Given the description of an element on the screen output the (x, y) to click on. 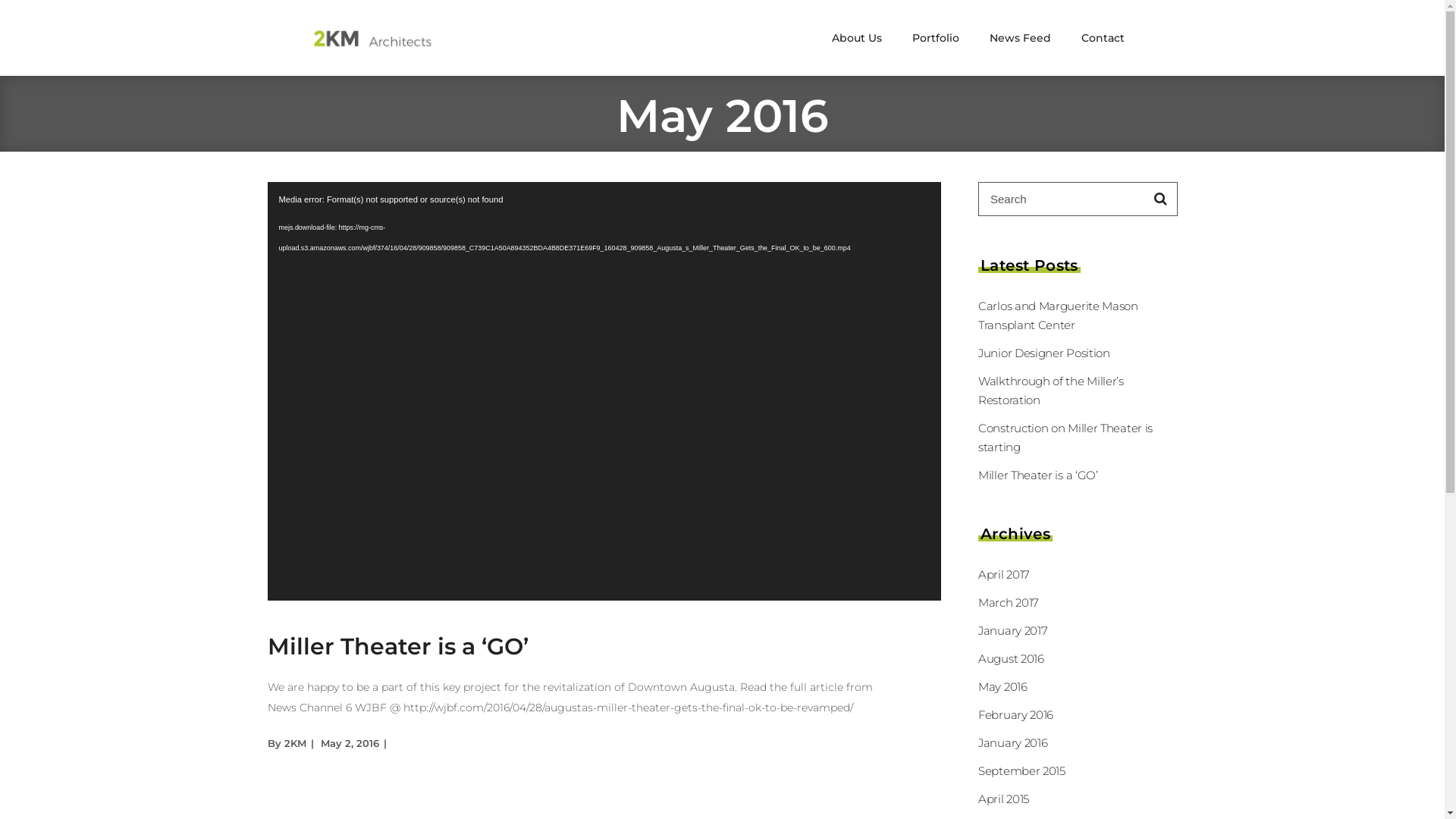
News Feed Element type: text (1019, 37)
April 2015 Element type: text (1003, 798)
Carlos and Marguerite Mason Transplant Center Element type: text (1058, 315)
May 2016 Element type: text (1002, 686)
Construction on Miller Theater is starting Element type: text (1065, 437)
2KM Element type: text (294, 743)
January 2016 Element type: text (1012, 742)
About Us Element type: text (855, 37)
September 2015 Element type: text (1021, 770)
February 2016 Element type: text (1015, 714)
May 2, 2016 Element type: text (349, 743)
March 2017 Element type: text (1008, 602)
January 2017 Element type: text (1012, 630)
Search for: Element type: hover (1061, 198)
Portfolio Element type: text (934, 37)
August 2016 Element type: text (1011, 658)
Junior Designer Position Element type: text (1044, 352)
April 2017 Element type: text (1003, 574)
Contact Element type: text (1102, 37)
